Given the description of an element on the screen output the (x, y) to click on. 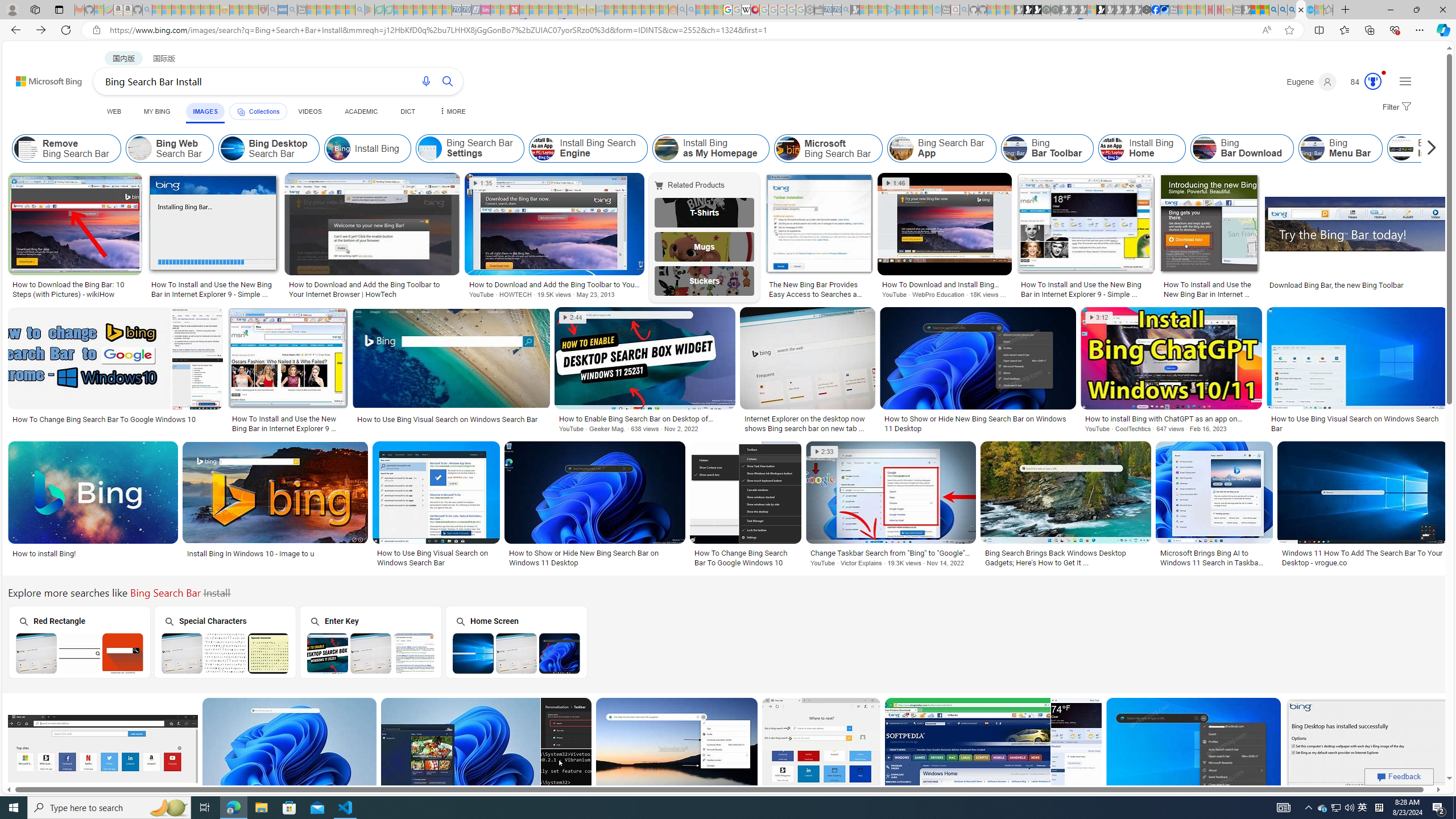
Scroll right (1428, 148)
Bing T-Shirts (704, 212)
Install Bing (367, 148)
MediaWiki (754, 9)
Bing Search Bar Special Characters Special Characters (224, 642)
